Given the description of an element on the screen output the (x, y) to click on. 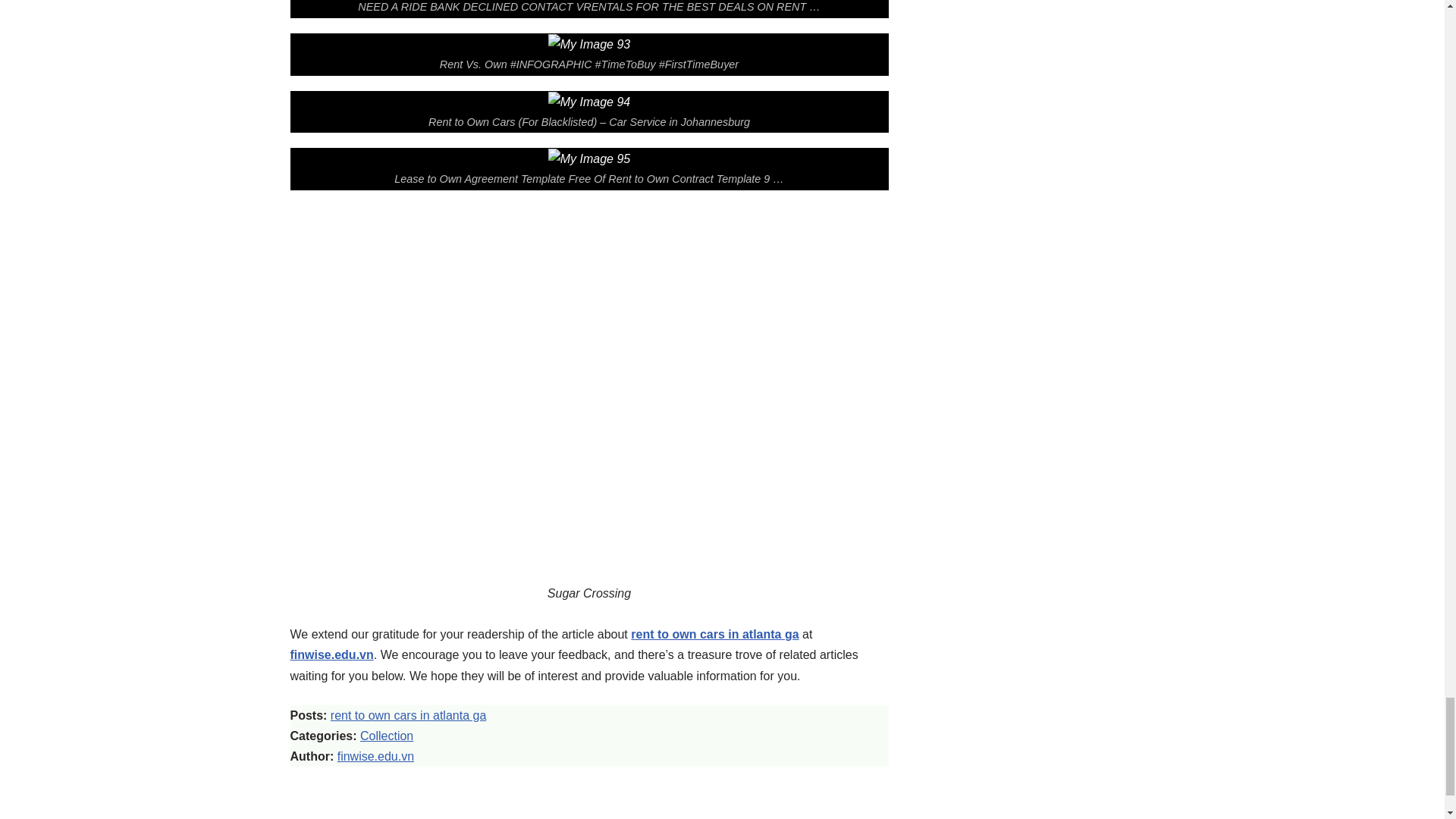
rent to own cars in atlanta ga (408, 715)
finwise.edu.vn (330, 654)
rent to own cars in atlanta ga (713, 634)
finwise.edu.vn (375, 756)
Collection (386, 735)
